Given the description of an element on the screen output the (x, y) to click on. 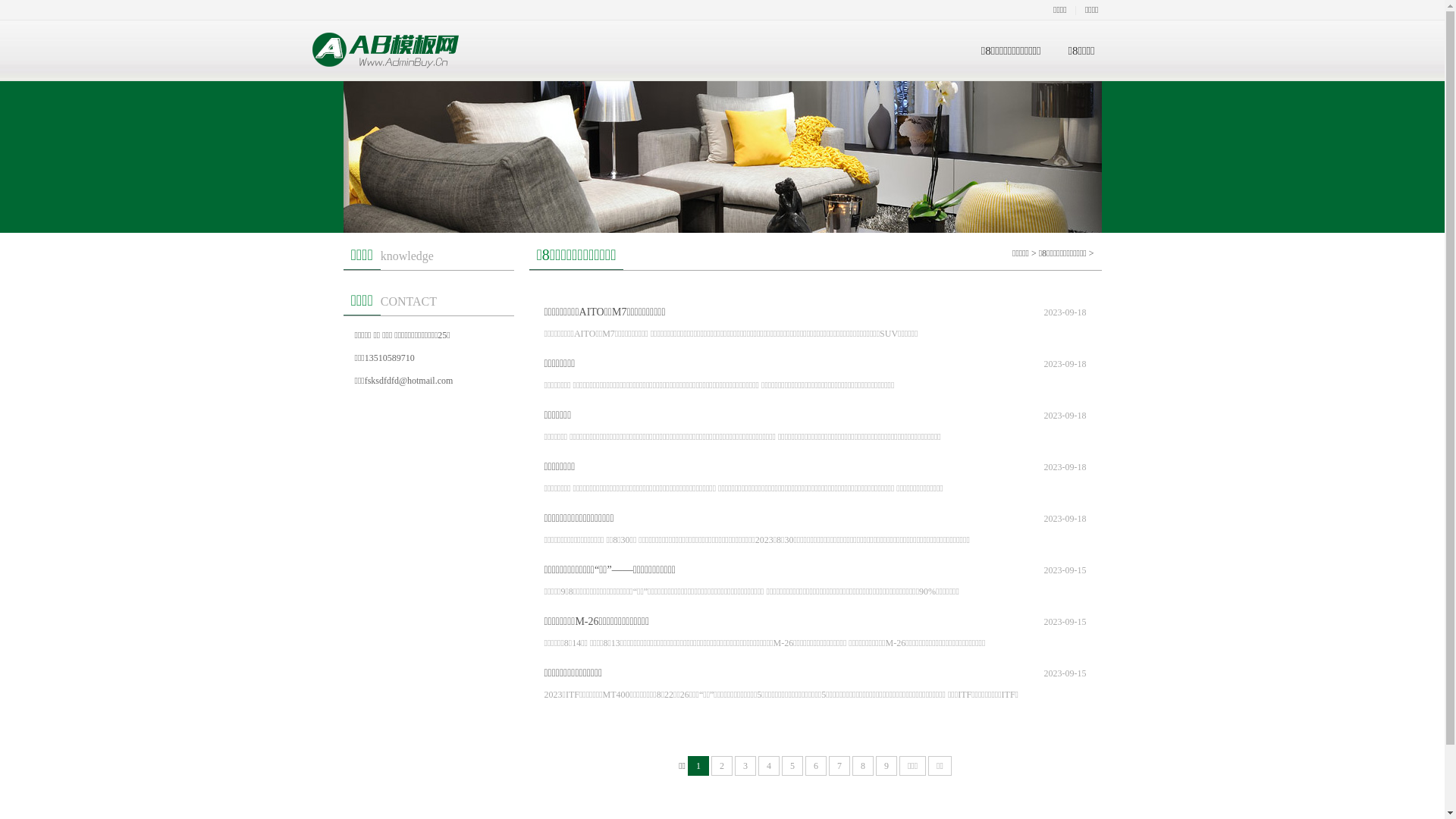
8 Element type: text (862, 765)
6 Element type: text (815, 765)
2 Element type: text (721, 765)
4 Element type: text (768, 765)
7 Element type: text (839, 765)
5 Element type: text (792, 765)
9 Element type: text (886, 765)
3 Element type: text (745, 765)
